Given the description of an element on the screen output the (x, y) to click on. 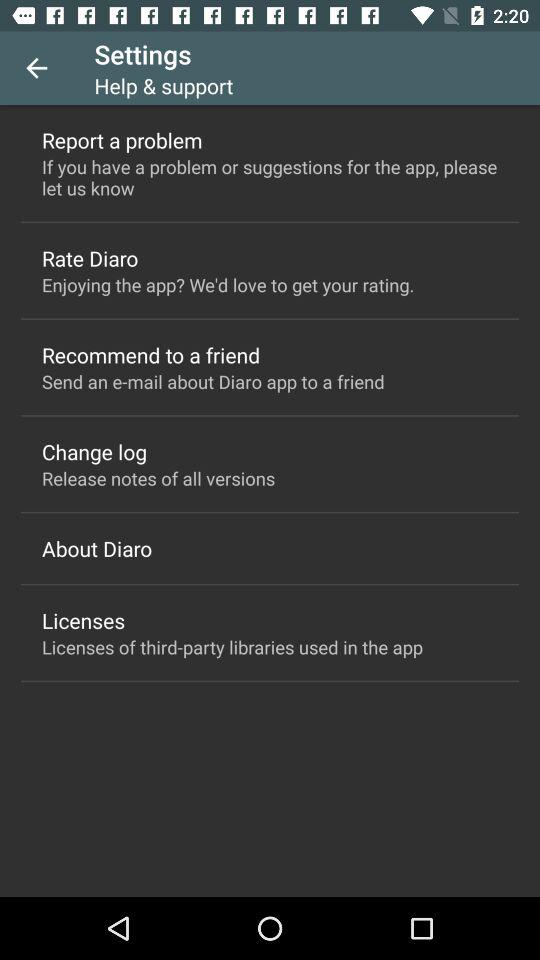
select icon above release notes of icon (94, 451)
